Given the description of an element on the screen output the (x, y) to click on. 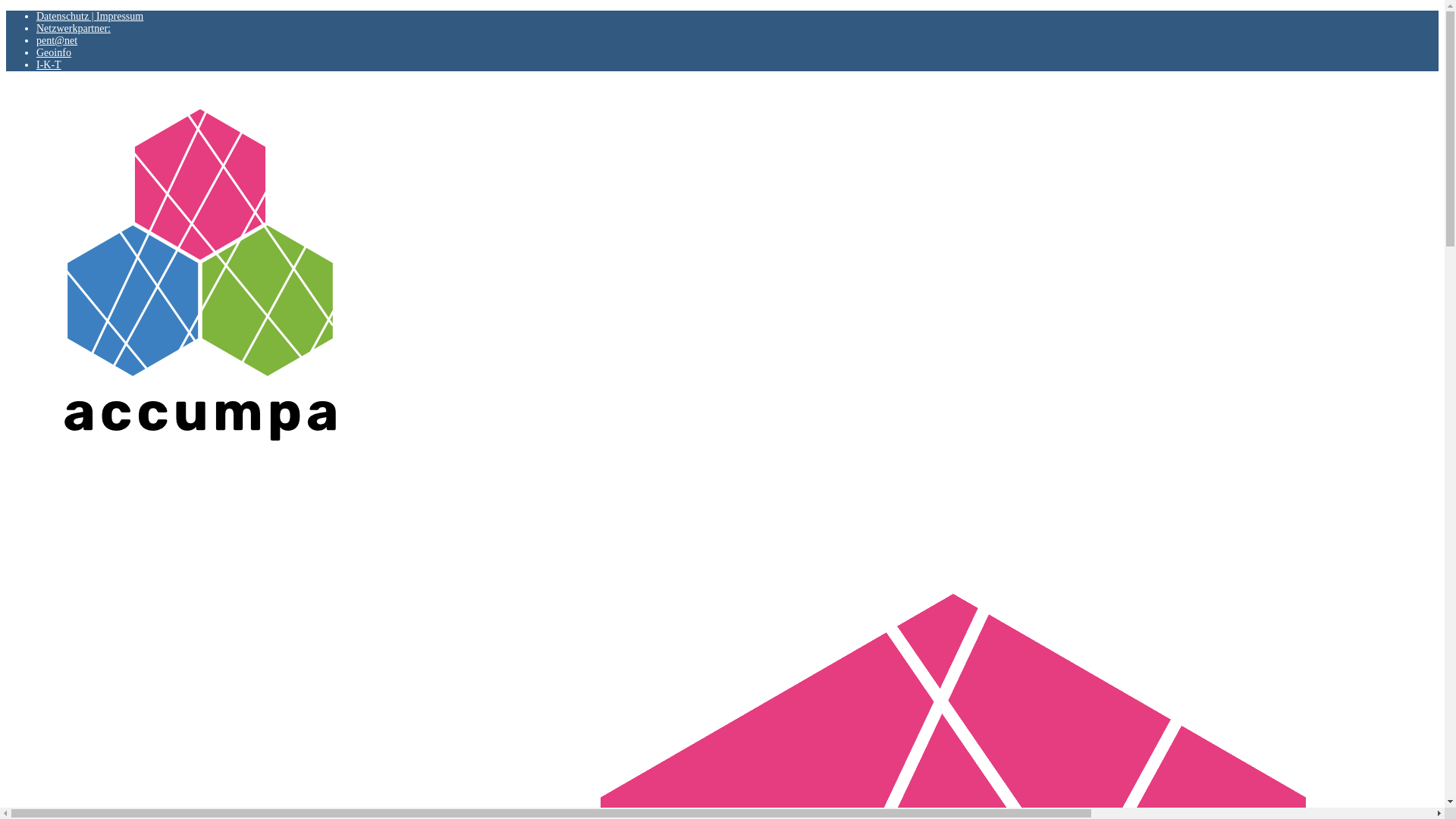
I-K-T Element type: text (48, 64)
Geoinfo Element type: text (53, 52)
pent@net Element type: text (56, 40)
Netzwerkpartner: Element type: text (73, 28)
Datenschutz | Impressum Element type: text (89, 15)
